Given the description of an element on the screen output the (x, y) to click on. 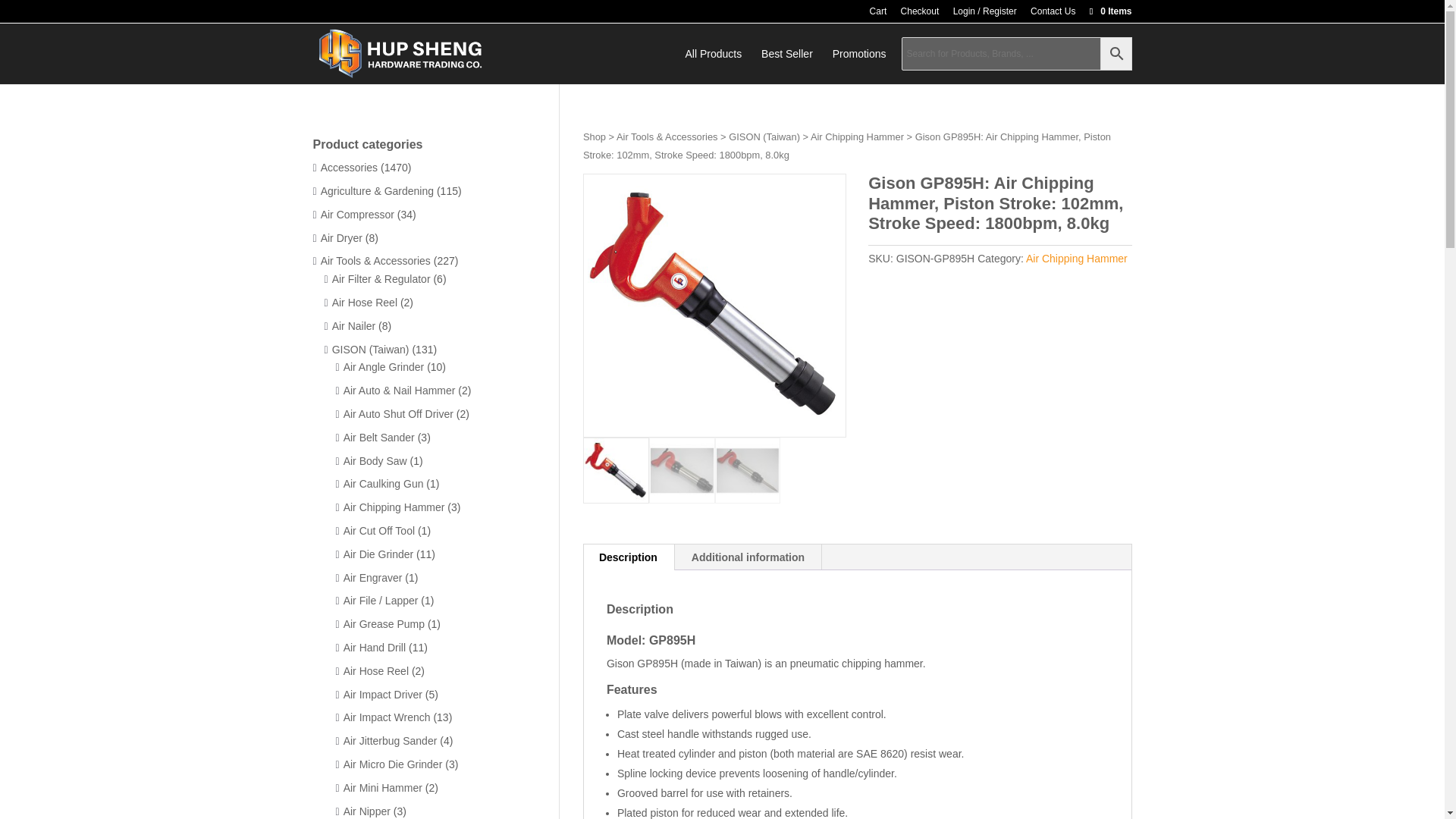
Cart (877, 14)
0 Items (1108, 10)
Shop (594, 136)
Additional information (748, 557)
Air Chipping Hammer (1076, 258)
Contact Us (1052, 14)
Gison GP895H (714, 304)
Best Seller (786, 66)
Description (628, 557)
Gison GP895H-2 (977, 304)
Checkout (920, 14)
Promotions (859, 66)
Air Chipping Hammer (857, 136)
All Products (713, 66)
